Given the description of an element on the screen output the (x, y) to click on. 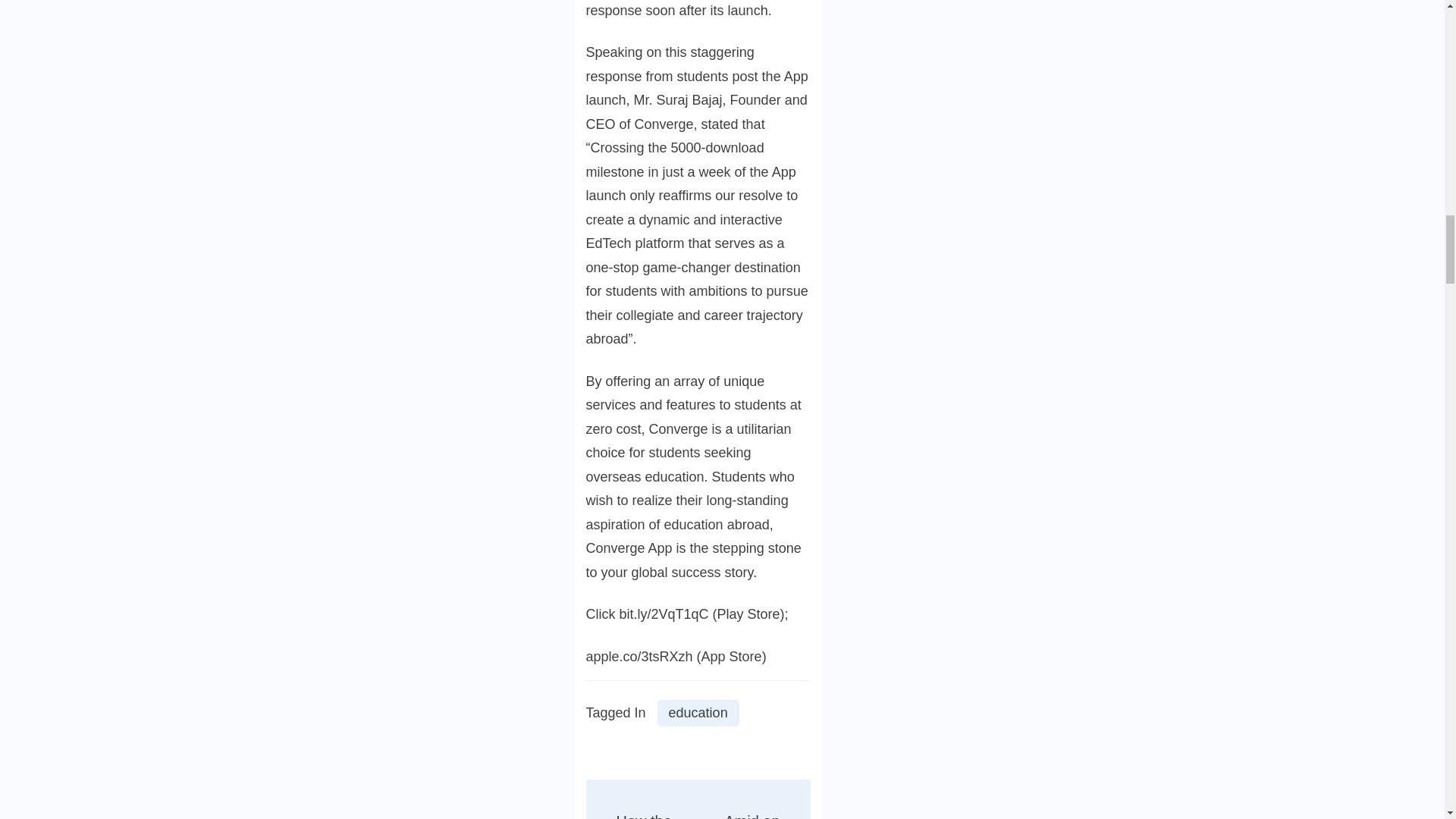
education (698, 713)
